Given the description of an element on the screen output the (x, y) to click on. 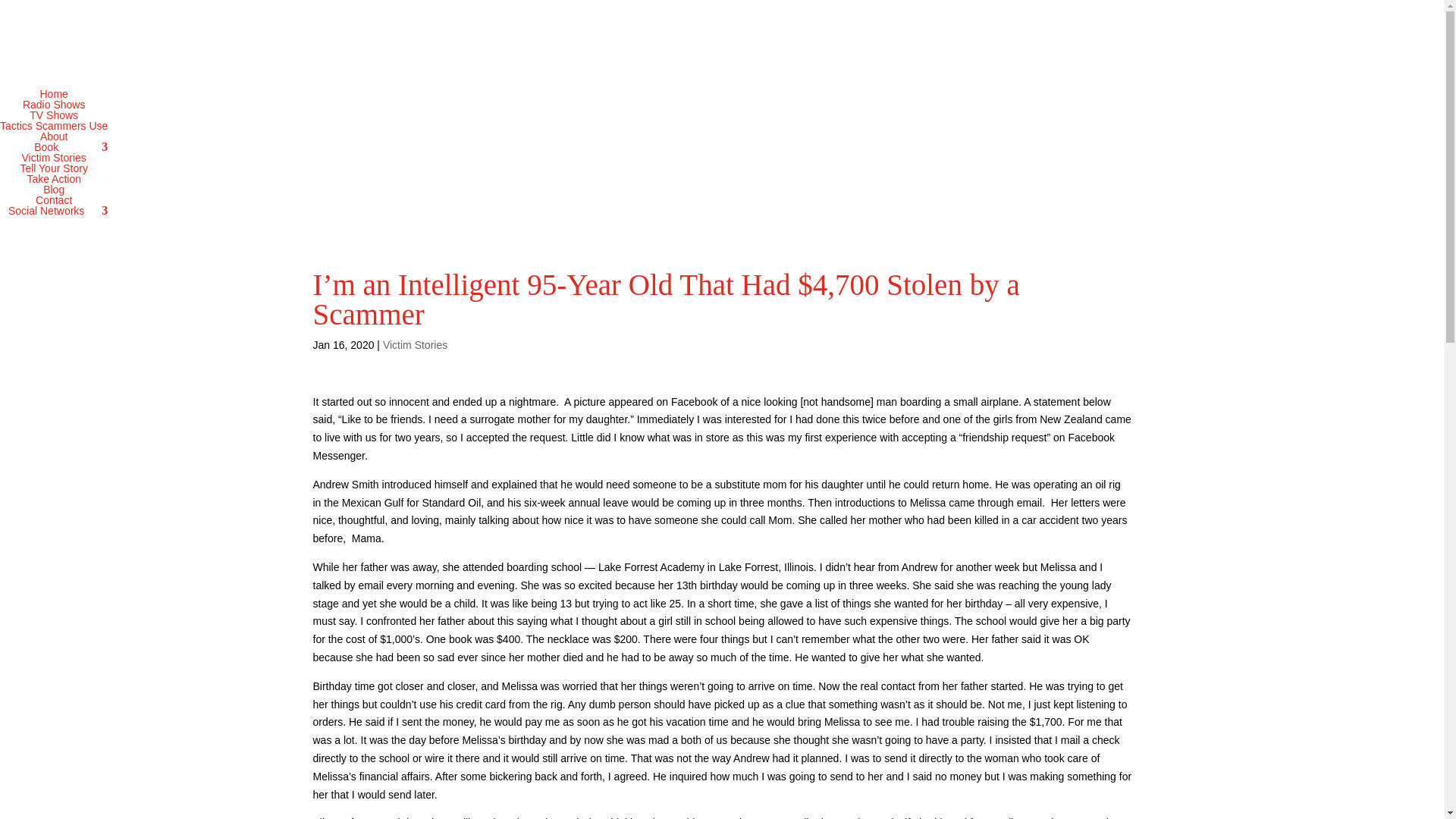
Tell Your Story (53, 168)
Take Action (53, 178)
Contact (52, 200)
Book (53, 146)
Tactics Scammers Use (53, 125)
About (54, 136)
TV Shows (53, 114)
Social Networks (53, 210)
Victim Stories (53, 157)
Radio Shows (54, 104)
Blog (53, 189)
Victim Stories (414, 345)
Home (52, 93)
